Given the description of an element on the screen output the (x, y) to click on. 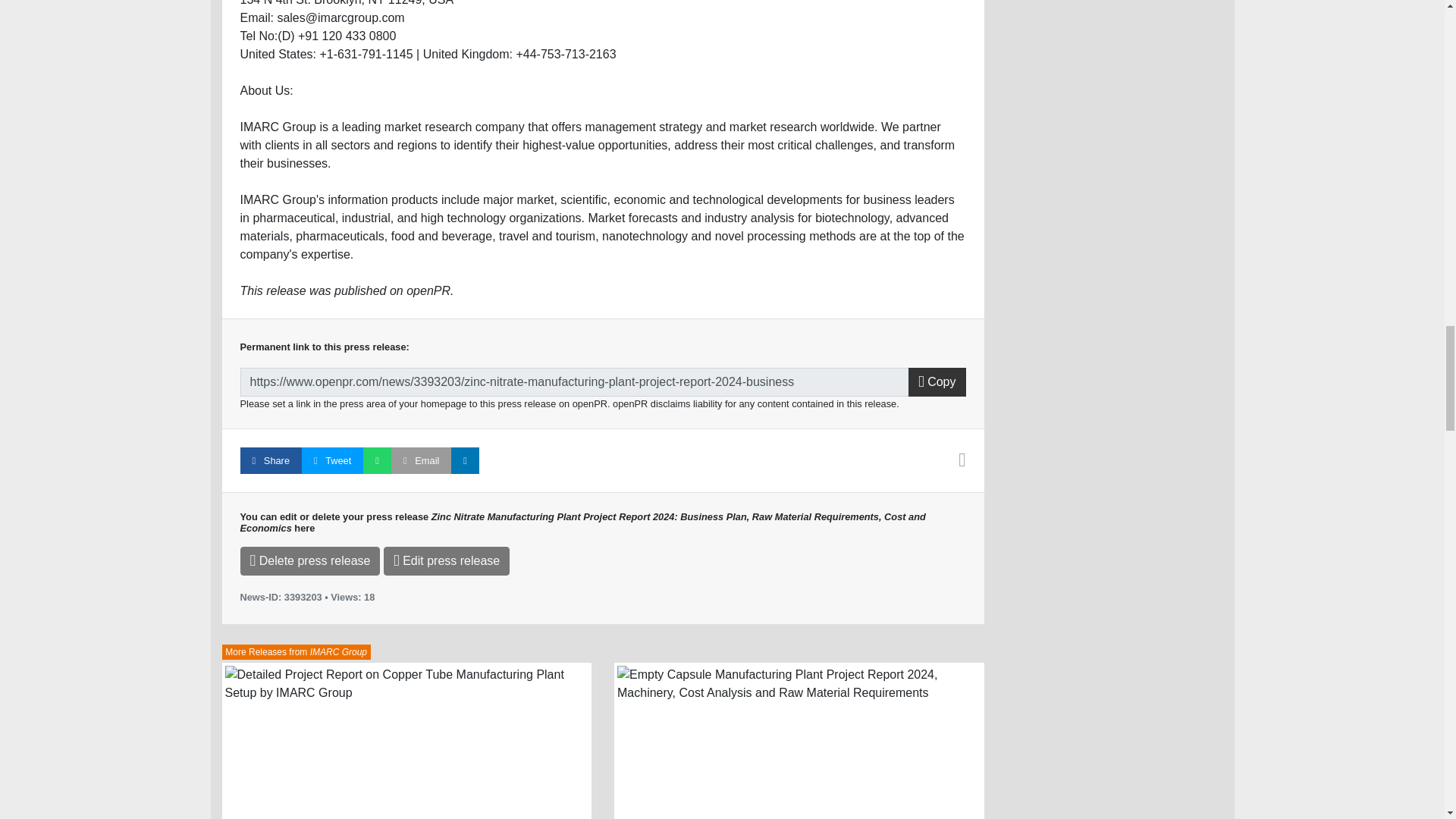
Permalink (574, 381)
LinkedIn (465, 460)
Email (421, 460)
Facebook (270, 460)
WhatsApp (376, 460)
